Given the description of an element on the screen output the (x, y) to click on. 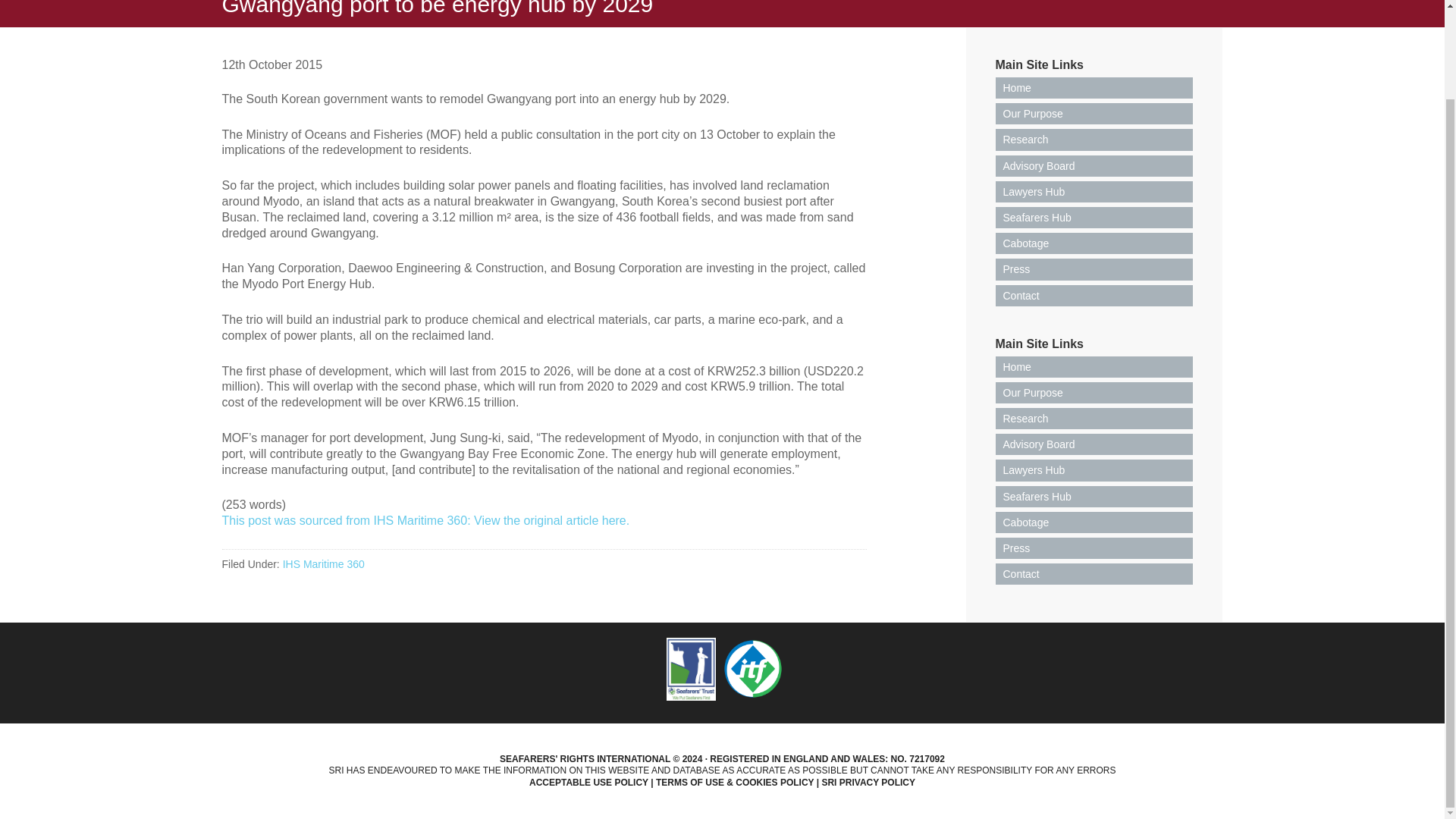
Research (1093, 418)
Press (1093, 269)
Lawyers Hub (1093, 469)
Cabotage (1093, 242)
Press (1093, 547)
Cabotage (1093, 522)
Advisory Board (1093, 444)
Advisory Board (1093, 165)
Our Purpose (1093, 392)
Home (1093, 366)
